Given the description of an element on the screen output the (x, y) to click on. 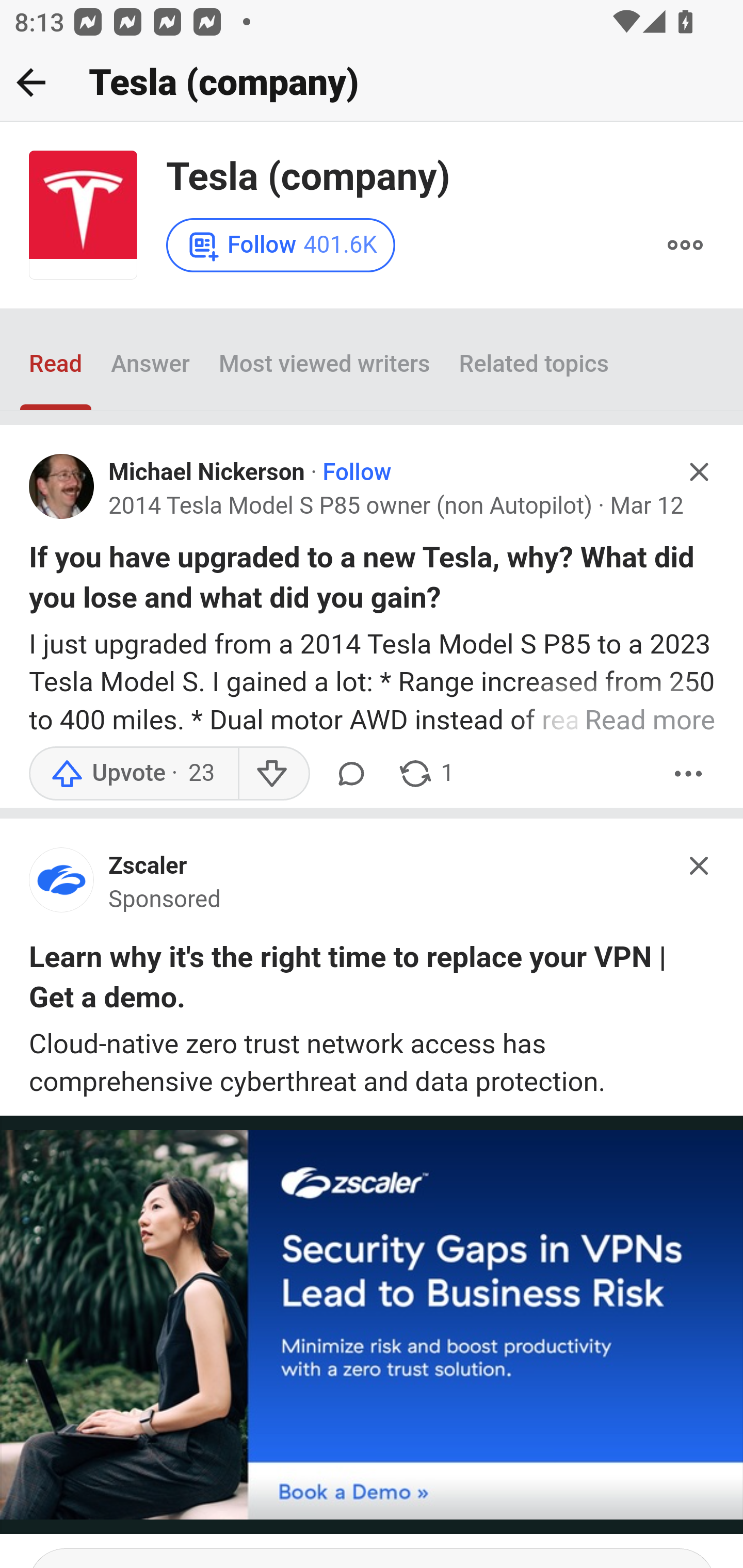
Back Tesla (company) (371, 82)
Back (30, 82)
Icon for Tesla (company) (82, 215)
More (684, 245)
Follow 401.6K (281, 244)
Read (55, 364)
Answer (150, 364)
Most viewed writers (323, 364)
Related topics (534, 364)
Hide (699, 471)
Profile photo for Michael Nickerson (61, 486)
Michael Nickerson (206, 471)
Follow (356, 471)
Mar 12 (646, 505)
Upvote (133, 774)
Downvote (273, 774)
Comment (350, 774)
1 share (425, 774)
More (688, 774)
Hide (699, 865)
main-qimg-be65f83ac303949ec332d46a3582d112 (61, 884)
Zscaler (147, 865)
Sponsored (165, 899)
